Given the description of an element on the screen output the (x, y) to click on. 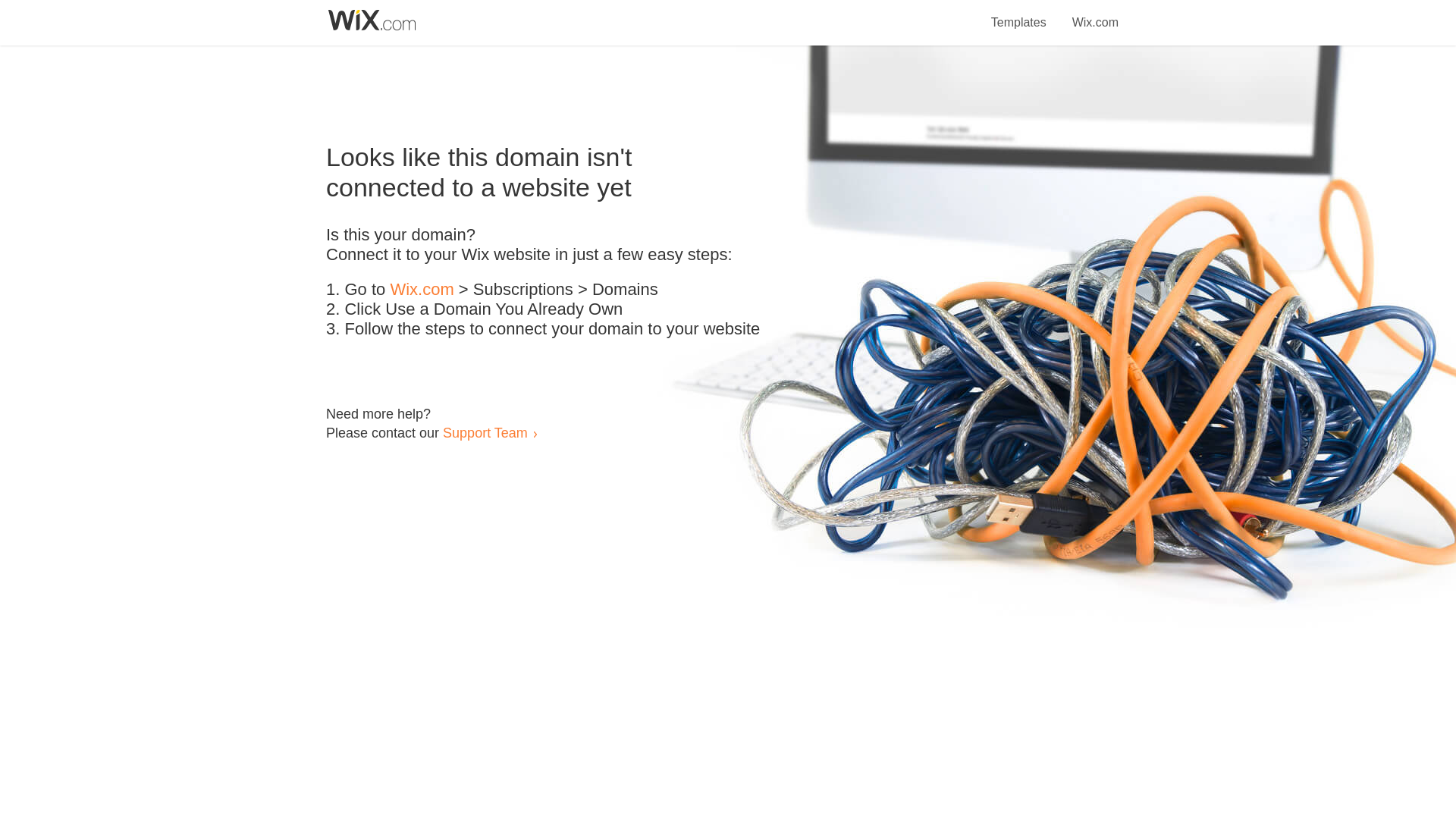
Support Team (484, 432)
Wix.com (1095, 14)
Templates (1018, 14)
Wix.com (421, 289)
